Given the description of an element on the screen output the (x, y) to click on. 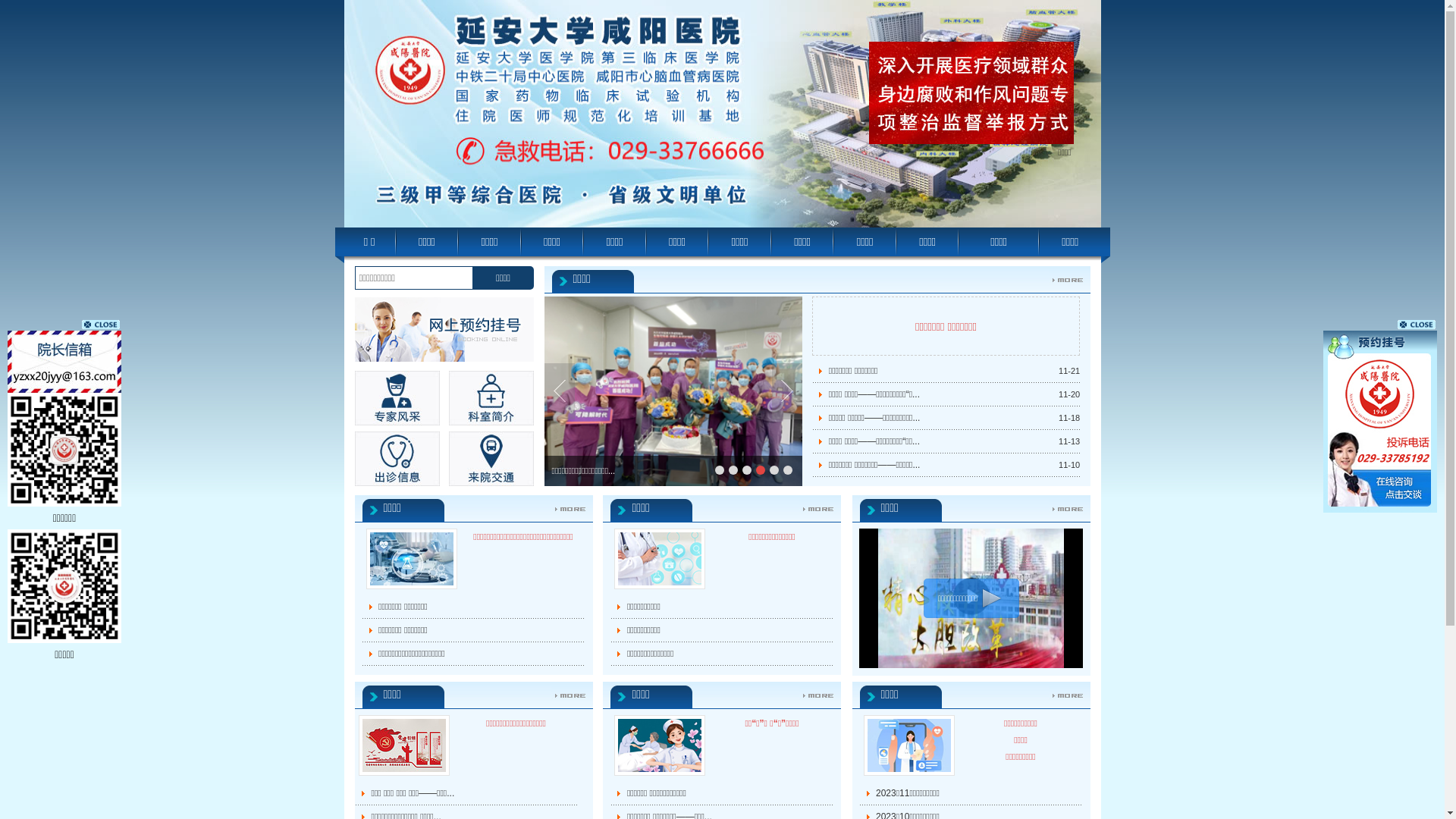
11-21 Element type: text (1068, 370)
11-10 Element type: text (1068, 464)
11-18 Element type: text (1068, 417)
11-13 Element type: text (1068, 440)
11-20 Element type: text (1068, 393)
